Given the description of an element on the screen output the (x, y) to click on. 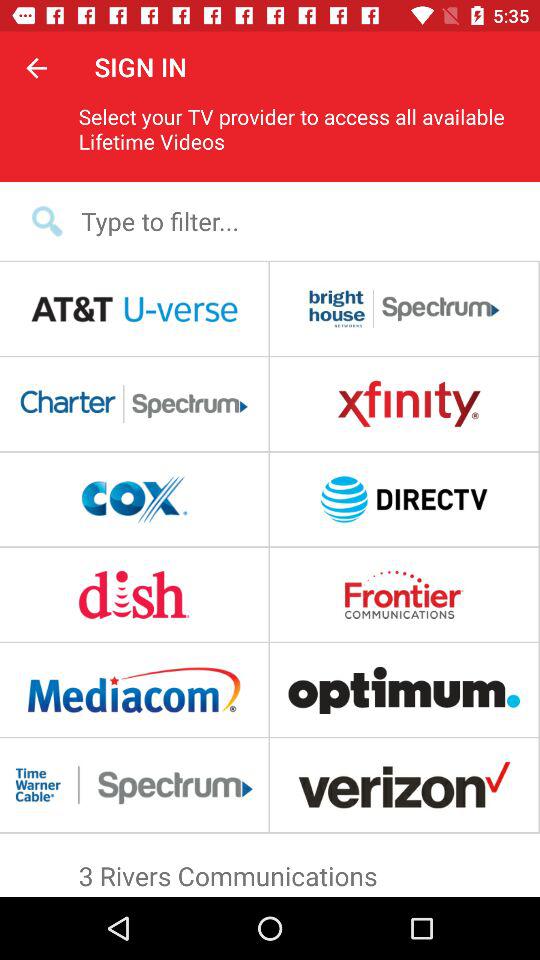
swipe until 3 rivers communications icon (270, 871)
